Given the description of an element on the screen output the (x, y) to click on. 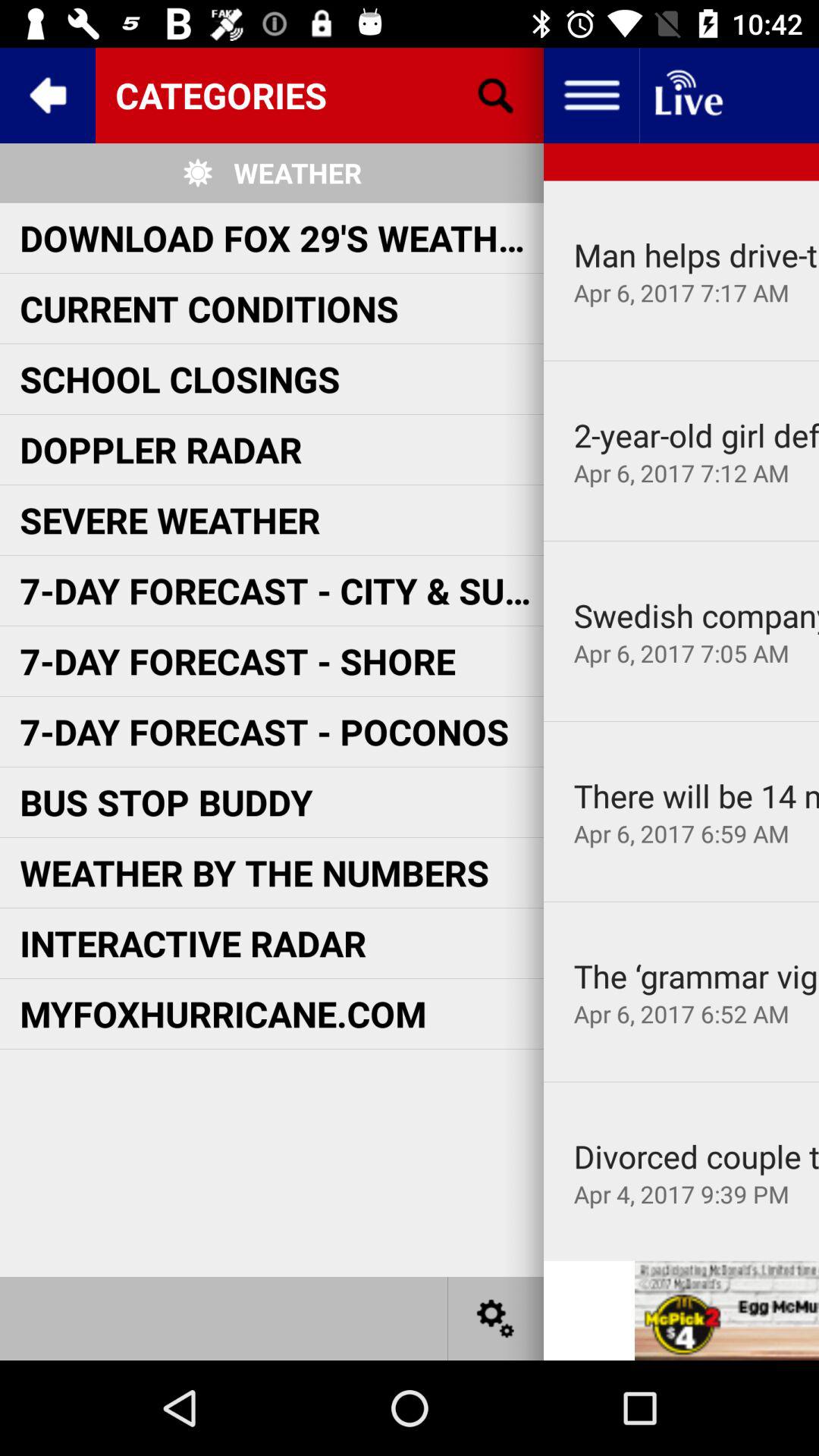
enter search (495, 95)
